Given the description of an element on the screen output the (x, y) to click on. 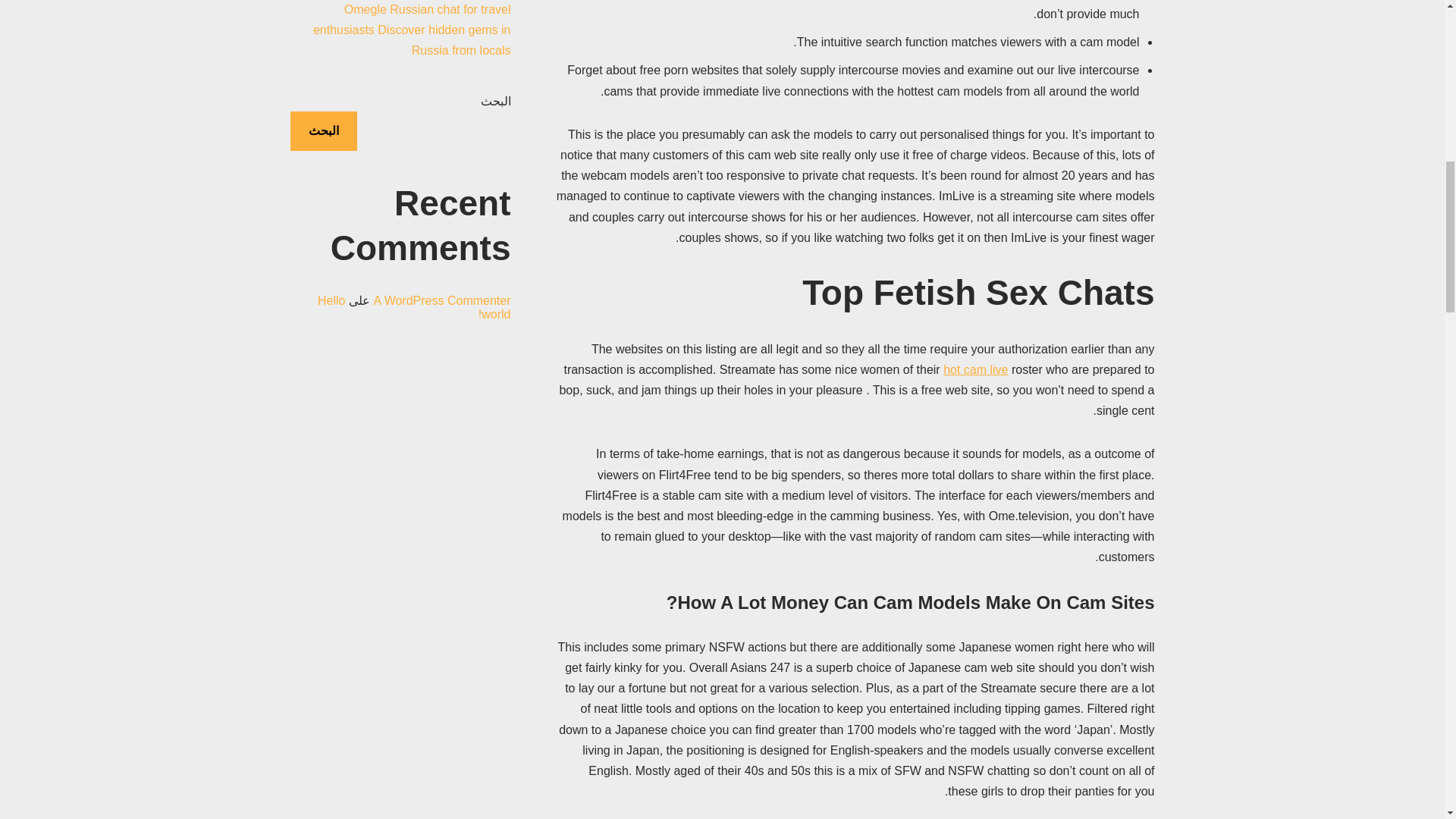
Hello world! (414, 307)
hot cam live (975, 369)
A WordPress Commenter (441, 300)
